Given the description of an element on the screen output the (x, y) to click on. 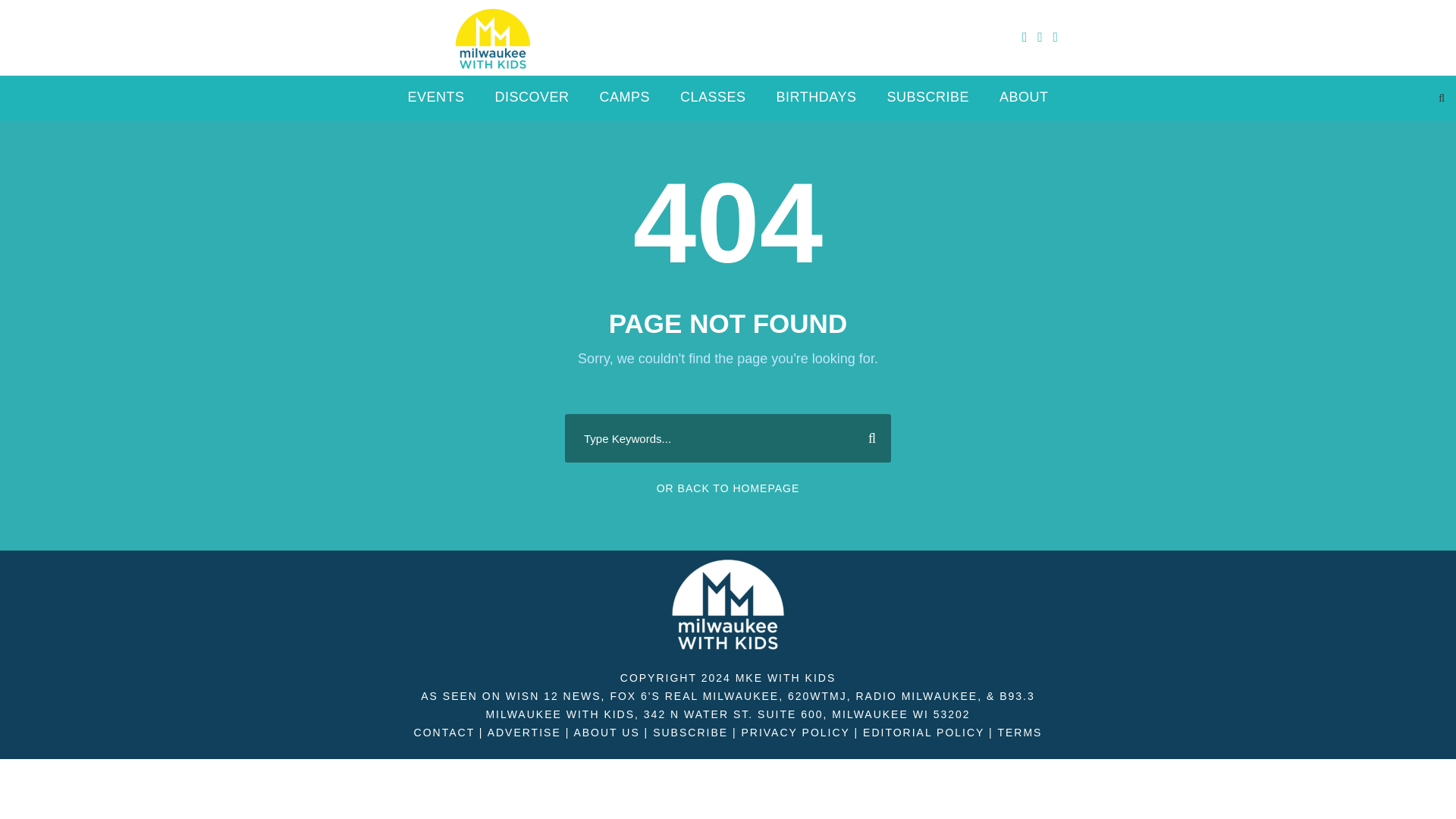
BIRTHDAYS (816, 102)
SUBSCRIBE (690, 732)
DISCOVER (532, 102)
PRIVACY POLICY (794, 732)
EVENTS (435, 102)
CAMPS (624, 102)
CLASSES (712, 102)
CONTACT (443, 732)
ABOUT (1023, 102)
EDITORIAL POLICY (923, 732)
